Given the description of an element on the screen output the (x, y) to click on. 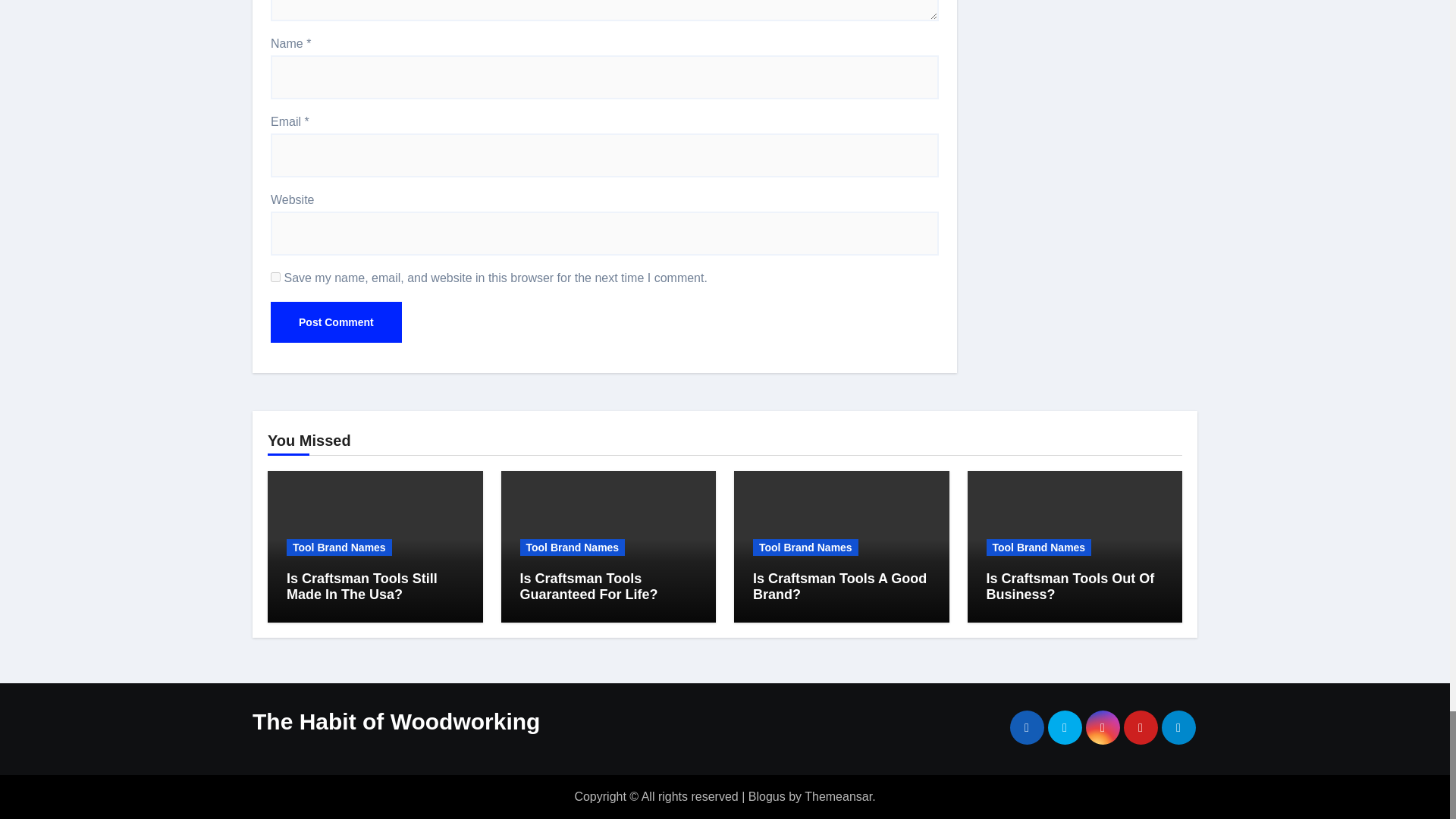
Permalink to: Is Craftsman Tools Out Of Business? (1069, 586)
Permalink to: Is Craftsman Tools A Good Brand? (839, 586)
yes (275, 276)
Permalink to: Is Craftsman Tools Still Made In The Usa? (362, 586)
Post Comment (335, 322)
Permalink to: Is Craftsman Tools Guaranteed For Life? (588, 586)
